Given the description of an element on the screen output the (x, y) to click on. 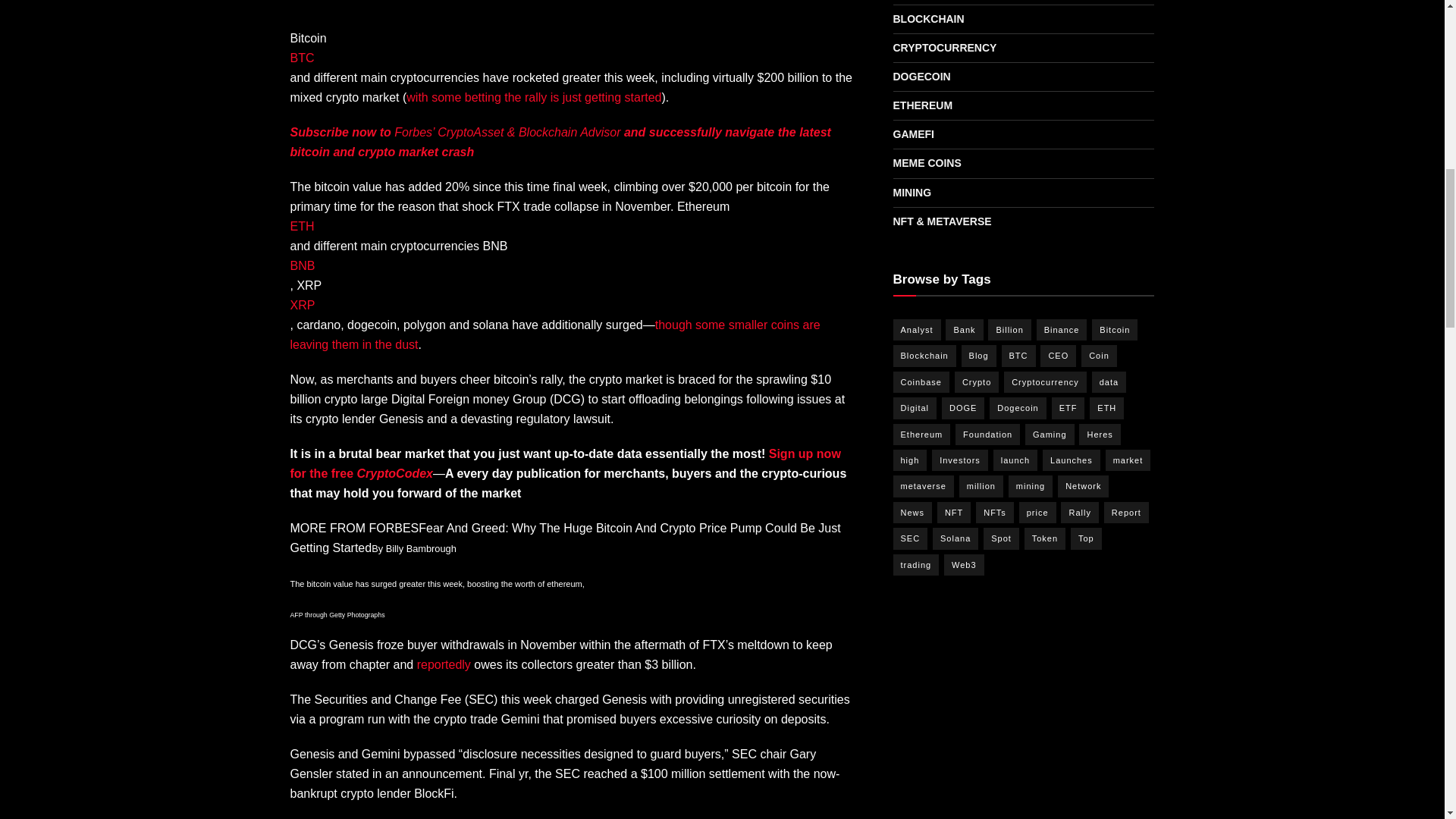
BTC (301, 57)
